Given the description of an element on the screen output the (x, y) to click on. 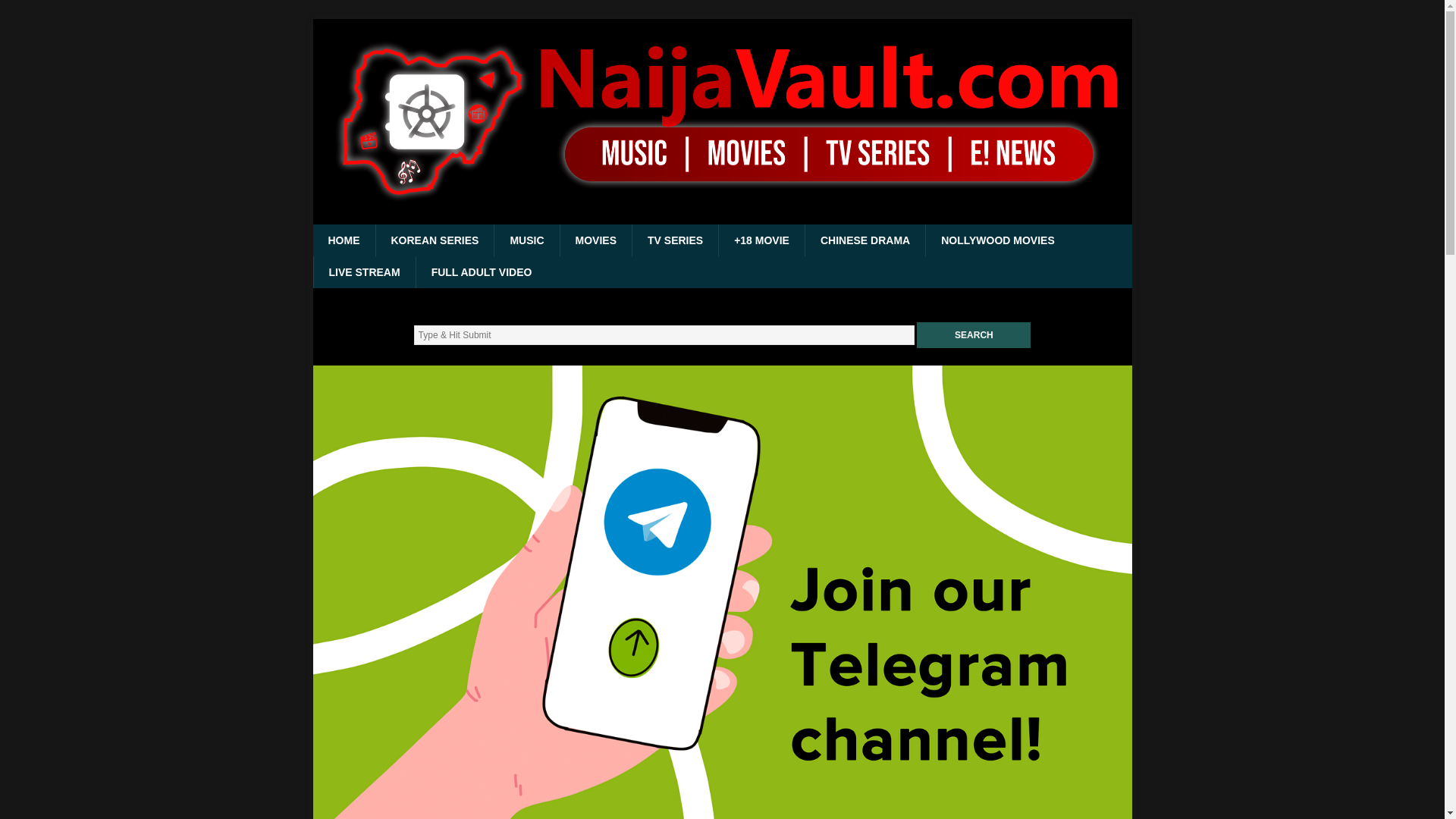
Search (973, 335)
MOVIES (595, 240)
FULL ADULT VIDEO (480, 272)
Search (973, 335)
MUSIC (526, 240)
HOME (343, 240)
CHINESE DRAMA (864, 240)
NOLLYWOOD MOVIES (997, 240)
KOREAN SERIES (433, 240)
TV SERIES (674, 240)
LIVE STREAM (363, 272)
